Given the description of an element on the screen output the (x, y) to click on. 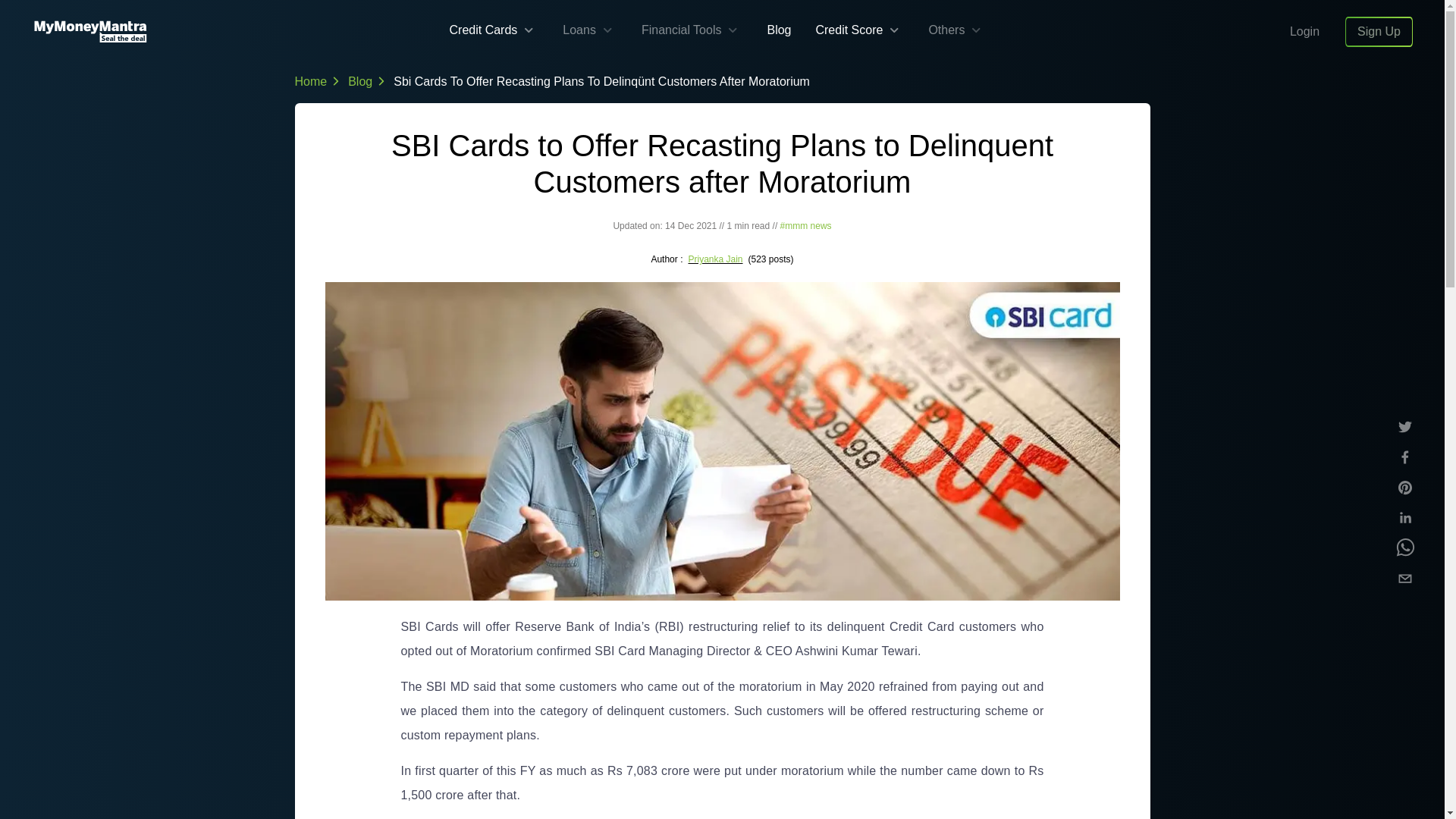
Login (1305, 31)
Sign Up (1378, 31)
Credit Cards (482, 30)
Login (1310, 31)
